Given the description of an element on the screen output the (x, y) to click on. 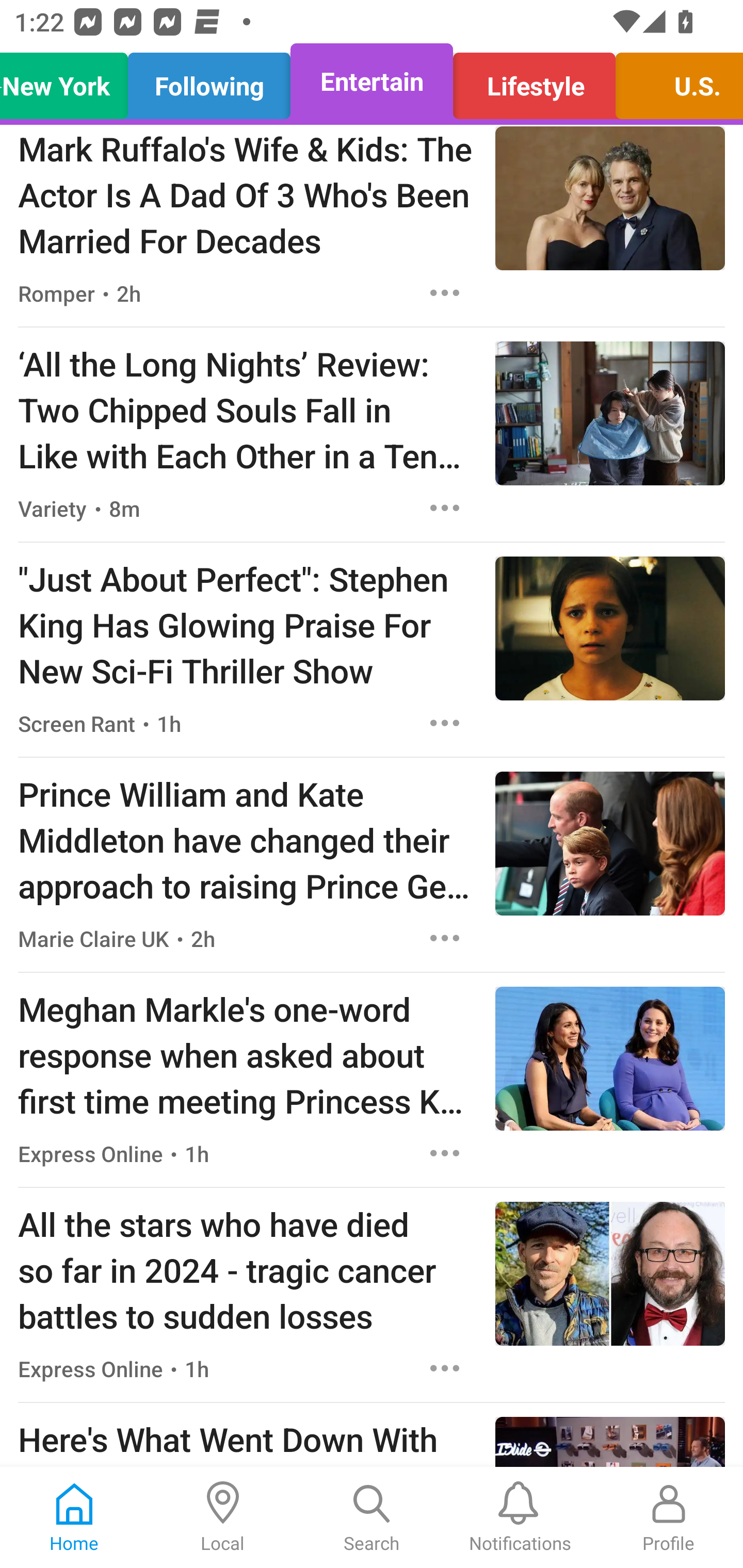
➣New York (69, 81)
Following (209, 81)
Entertain (371, 81)
Lifestyle (534, 81)
U.S. (673, 81)
Options (444, 293)
Options (444, 507)
Options (444, 722)
Options (444, 938)
Options (444, 1153)
Options (444, 1368)
Local (222, 1517)
Search (371, 1517)
Notifications (519, 1517)
Profile (668, 1517)
